Given the description of an element on the screen output the (x, y) to click on. 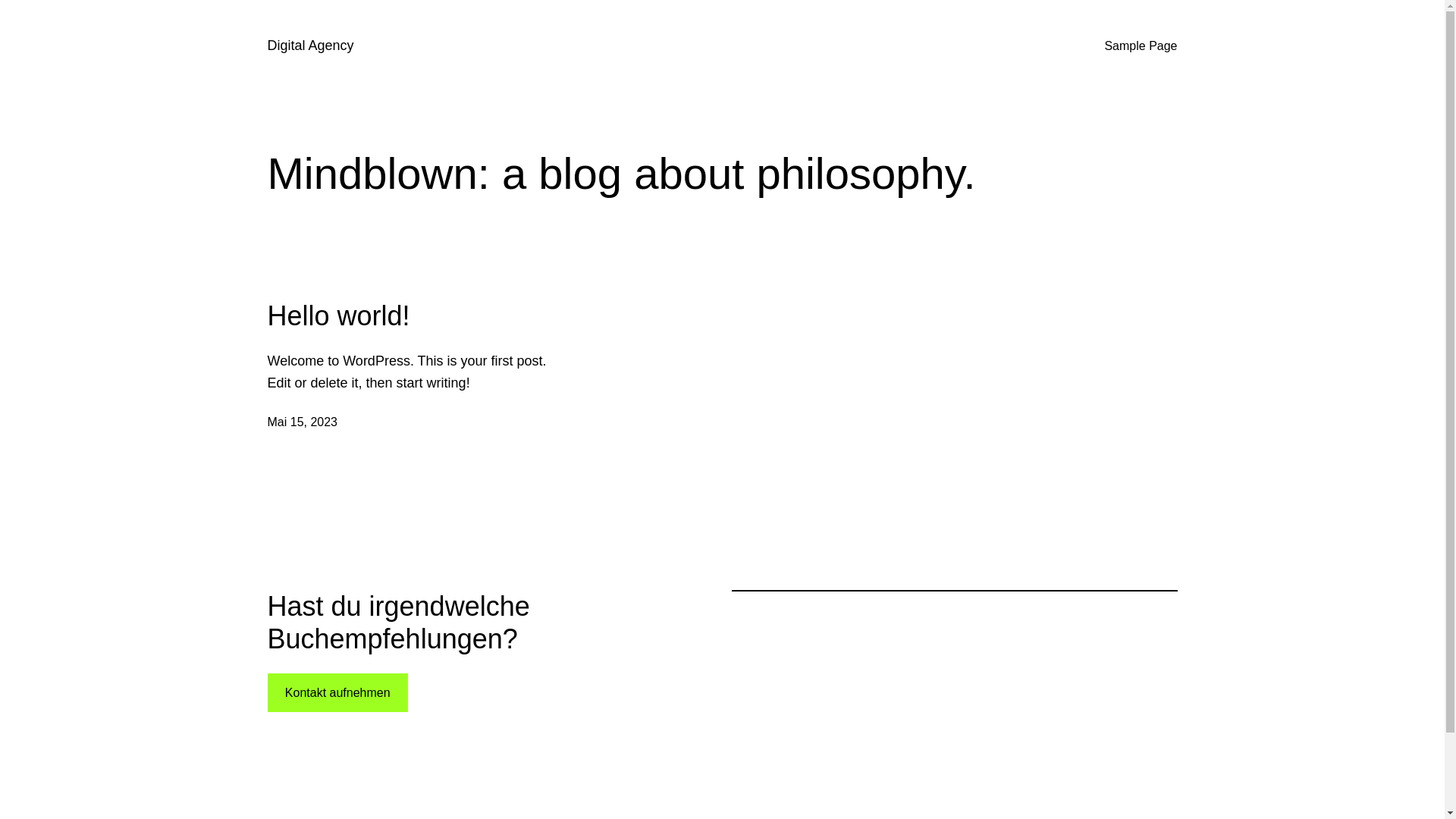
Mai 15, 2023 Element type: text (301, 421)
Kontakt aufnehmen Element type: text (336, 692)
Hello world! Element type: text (337, 315)
Sample Page Element type: text (1140, 46)
Digital Agency Element type: text (309, 45)
